Given the description of an element on the screen output the (x, y) to click on. 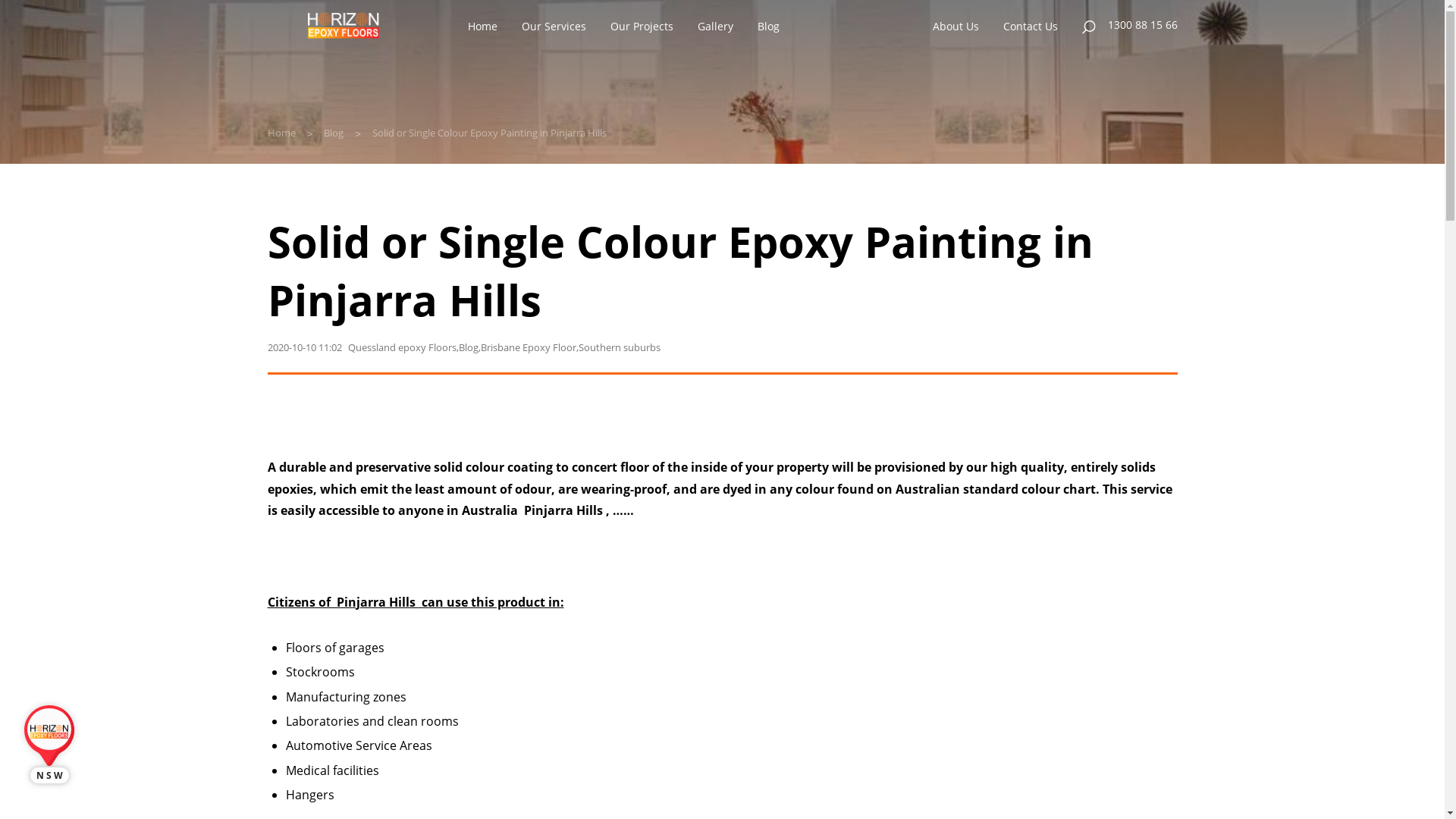
Gallery Element type: text (715, 26)
N S W Element type: text (49, 768)
Contact Us Element type: text (1030, 26)
1300 88 15 66 Element type: text (1141, 25)
Home Element type: text (481, 26)
Home Element type: text (280, 132)
Southern suburbs Element type: text (618, 348)
Our Projects Element type: text (640, 26)
Brisbane Epoxy Floor Element type: text (528, 348)
Quessland epoxy Floors Element type: text (401, 348)
Blog Element type: text (767, 26)
About Us Element type: text (955, 26)
Blog Element type: text (467, 348)
Blog Element type: text (333, 132)
Our Services Element type: text (553, 26)
Search Element type: text (1088, 25)
